Given the description of an element on the screen output the (x, y) to click on. 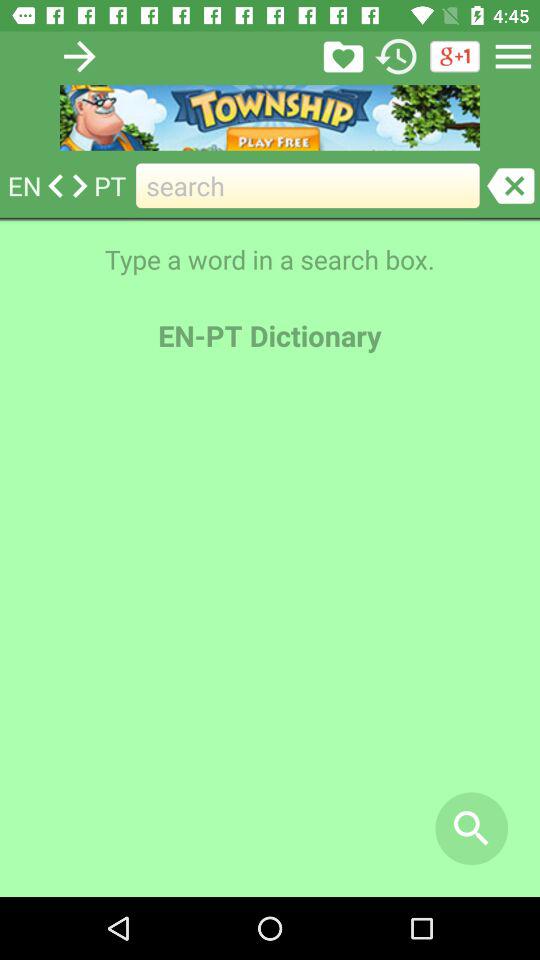
en-pt dictionary (343, 56)
